Given the description of an element on the screen output the (x, y) to click on. 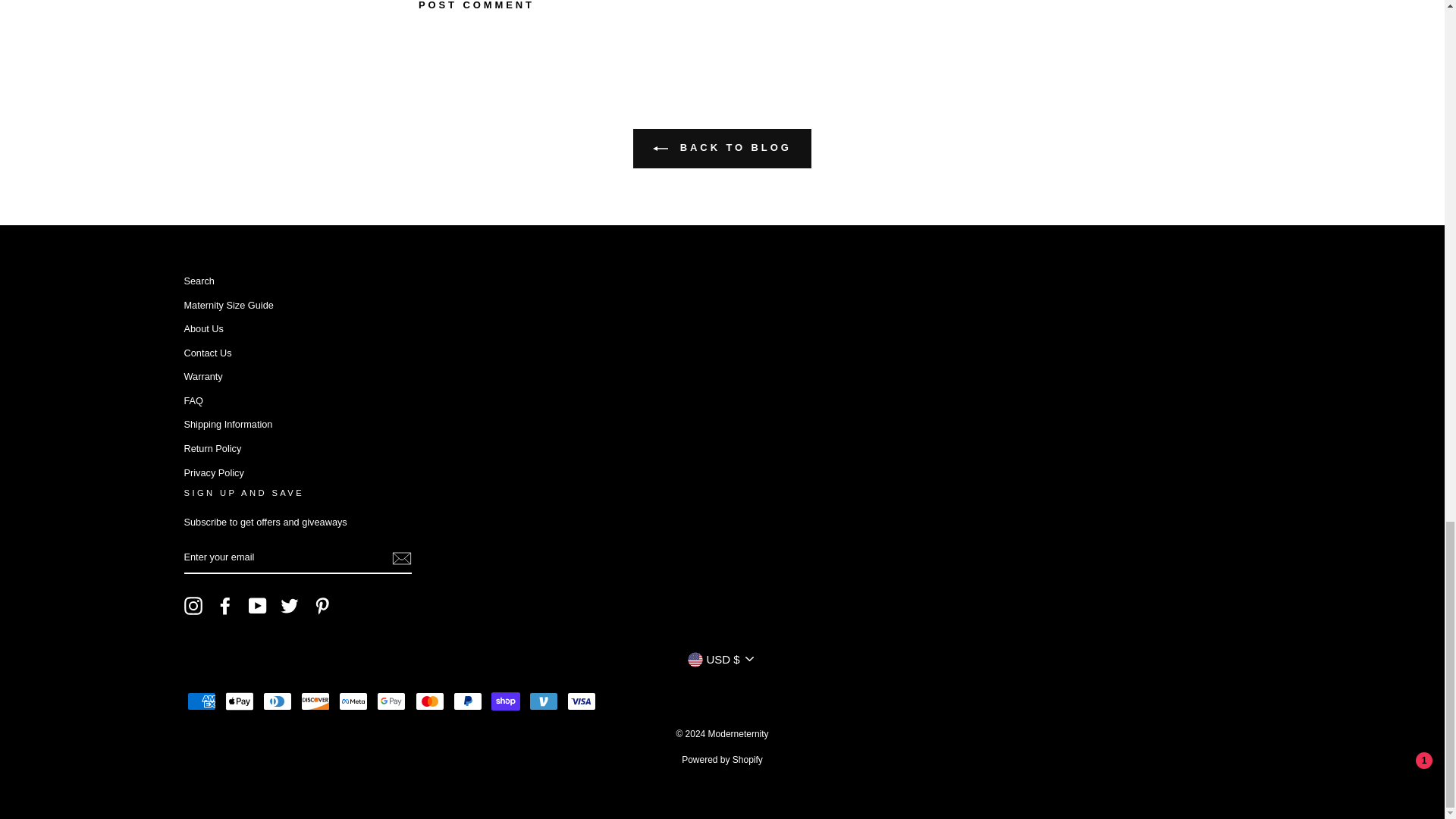
Moderneternity on Instagram (192, 606)
Moderneternity on YouTube (257, 606)
American Express (200, 701)
Moderneternity on Pinterest (322, 606)
Moderneternity on Twitter (289, 606)
Apple Pay (239, 701)
Moderneternity on Facebook (224, 606)
